Given the description of an element on the screen output the (x, y) to click on. 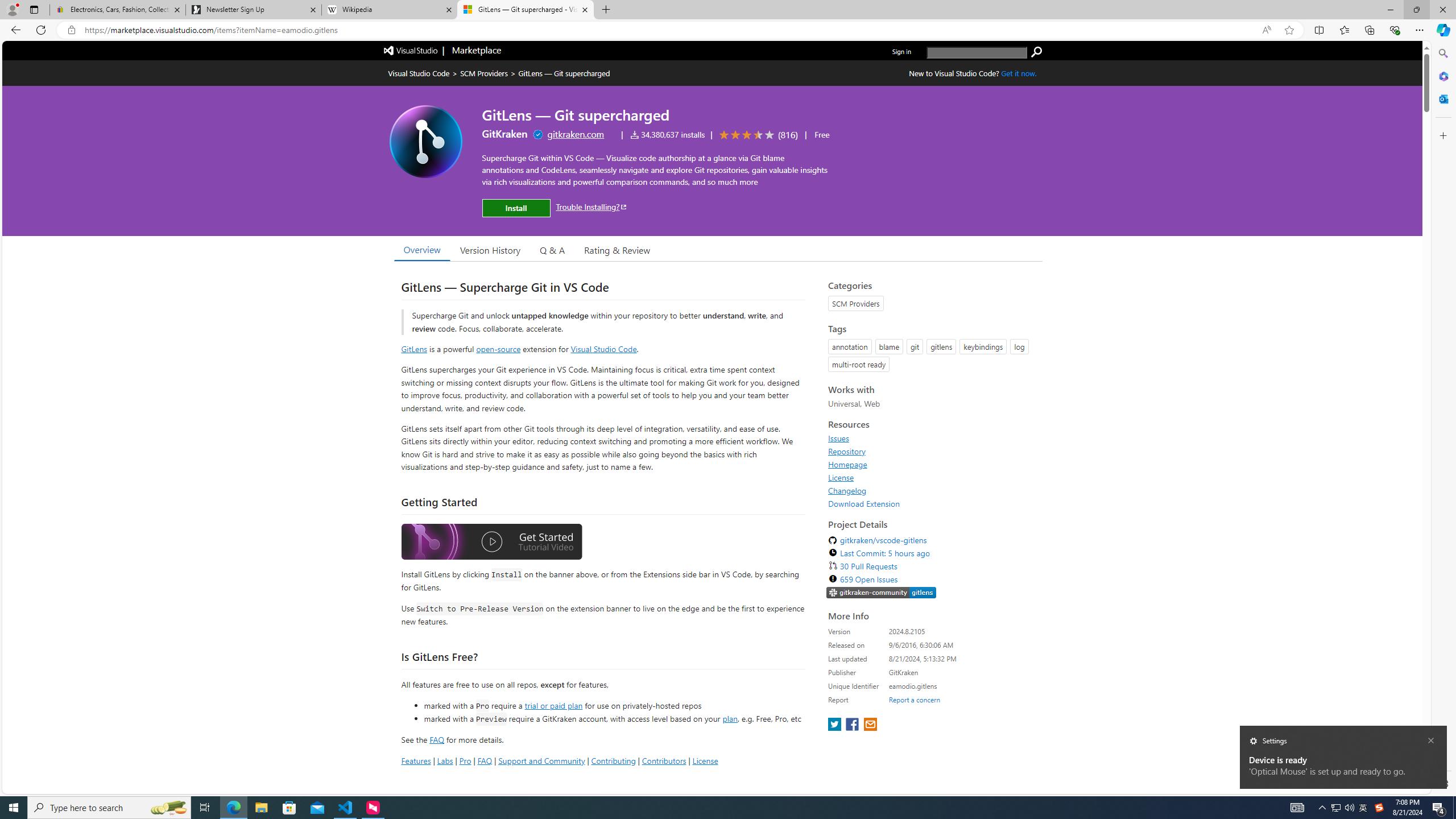
License (931, 477)
gitkraken.com (575, 133)
https://slack.gitkraken.com// (881, 592)
Features (415, 760)
search (1036, 52)
Get Visual Studio Code Now (1018, 72)
Contributors (663, 760)
